Given the description of an element on the screen output the (x, y) to click on. 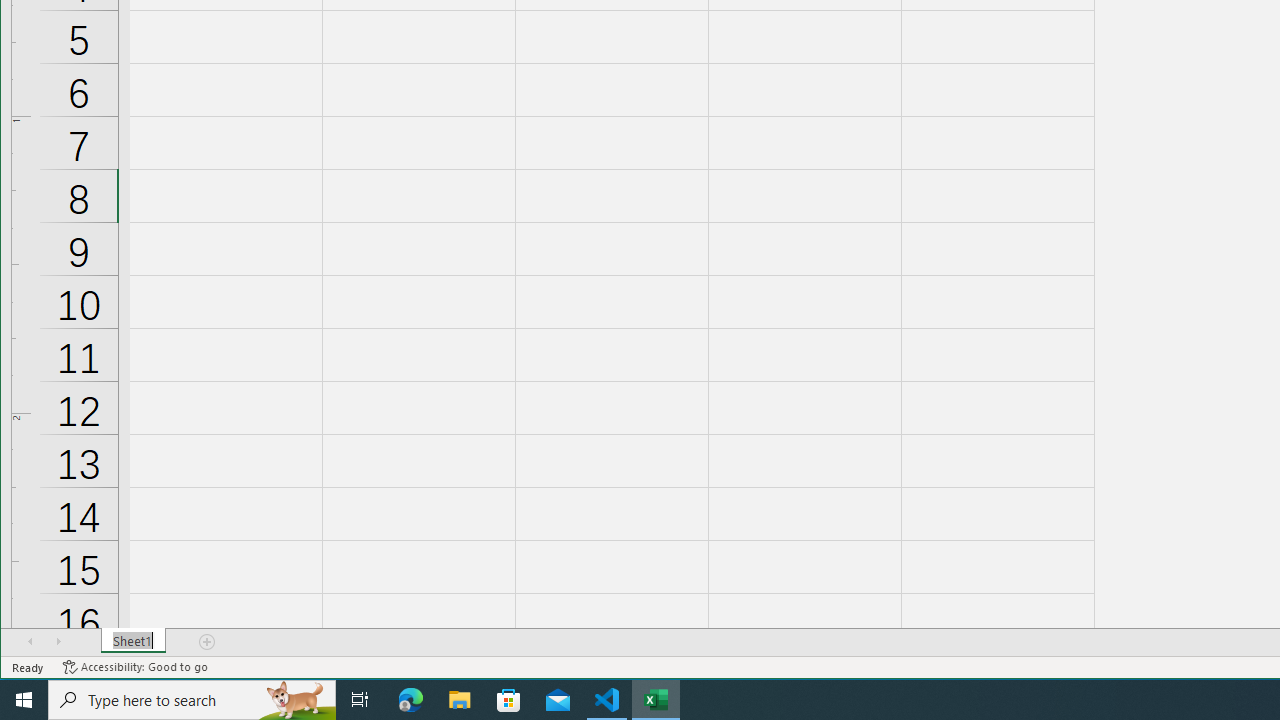
Microsoft Edge (411, 699)
Excel - 1 running window (656, 699)
Search highlights icon opens search home window (295, 699)
Microsoft Store (509, 699)
Task View (359, 699)
Visual Studio Code - 1 running window (607, 699)
Sheet Tab (133, 641)
File Explorer (460, 699)
Type here to search (191, 699)
Start (24, 699)
